Given the description of an element on the screen output the (x, y) to click on. 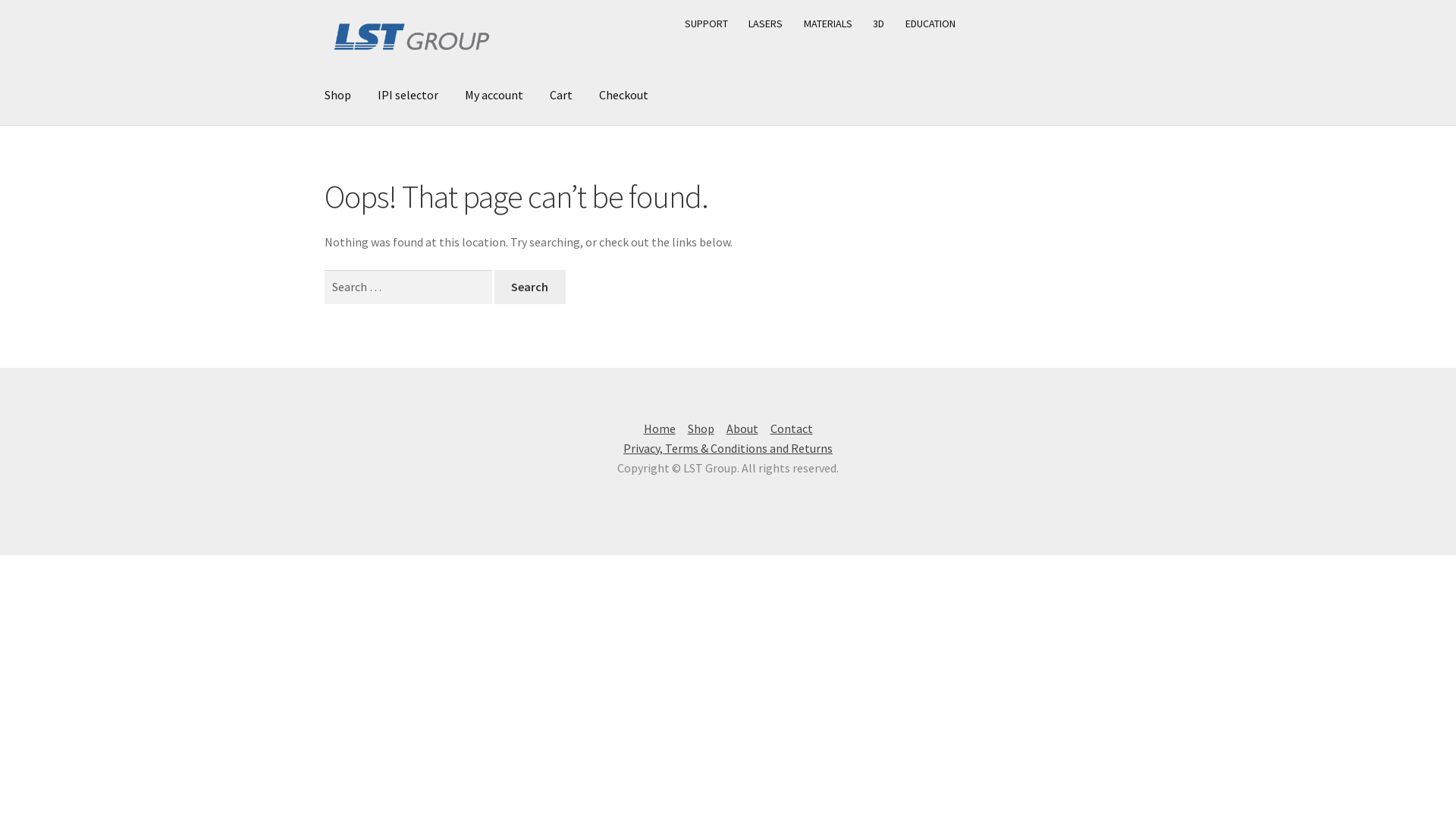
About Element type: text (742, 428)
Shop Element type: text (700, 428)
Checkout Element type: text (623, 95)
3D Element type: text (878, 23)
LASERS Element type: text (765, 23)
Skip to navigation Element type: text (323, 6)
Privacy, Terms & Conditions and Returns Element type: text (727, 447)
MATERIALS Element type: text (828, 23)
SUPPORT Element type: text (706, 23)
Cart Element type: text (560, 95)
IPI selector Element type: text (407, 95)
Shop Element type: text (337, 95)
Home Element type: text (658, 428)
EDUCATION Element type: text (930, 23)
Contact Element type: text (791, 428)
Search Element type: text (529, 286)
My account Element type: text (493, 95)
